Given the description of an element on the screen output the (x, y) to click on. 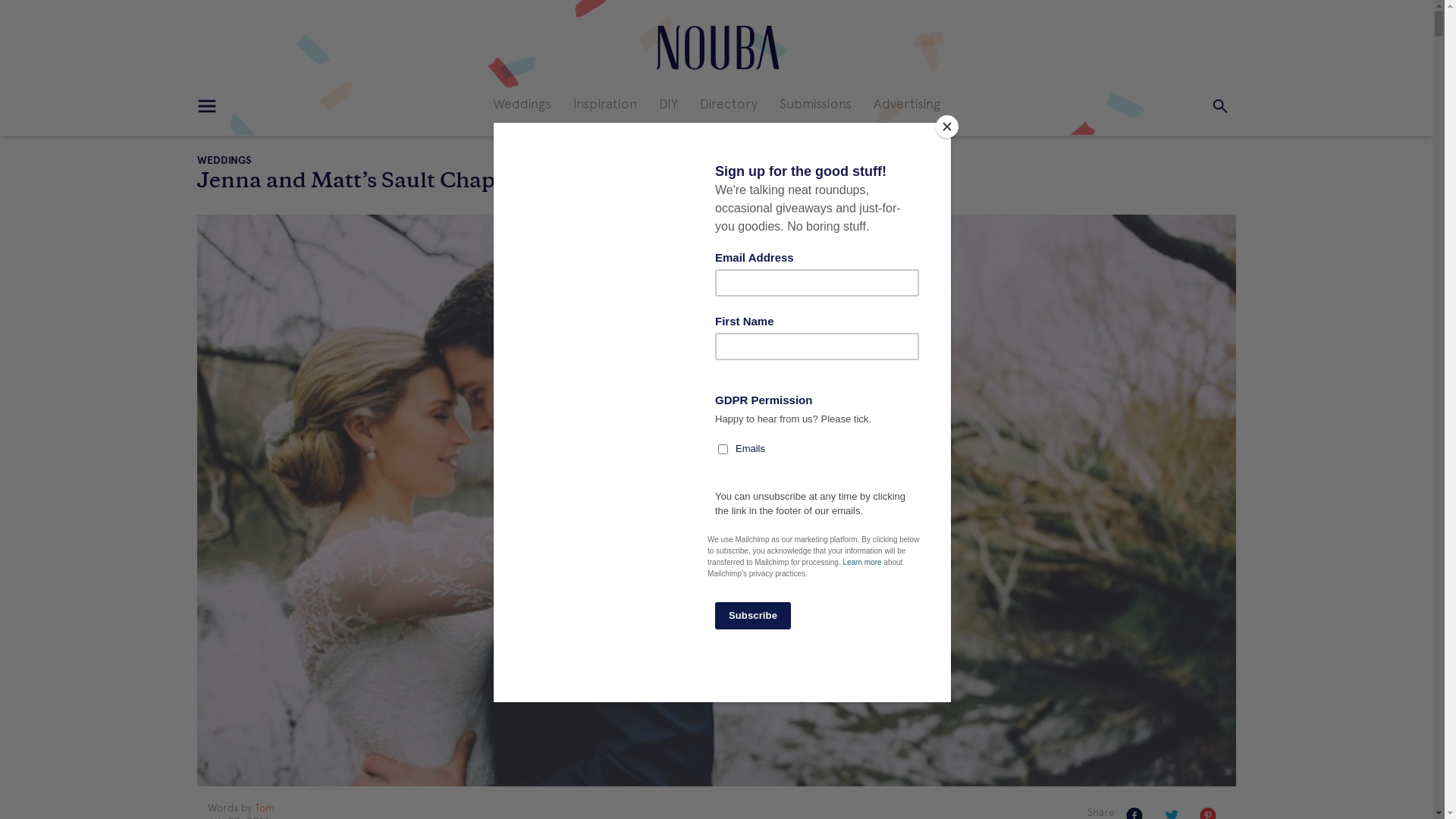
Submissions Element type: text (815, 103)
DIY Element type: text (667, 103)
Inspiration Element type: text (605, 103)
Pure Scot Element type: hover (715, 45)
Advertising Element type: text (906, 103)
Weddings Element type: text (521, 103)
WEDDINGS Element type: text (224, 159)
Tom Element type: text (264, 807)
Directory Element type: text (728, 103)
